Given the description of an element on the screen output the (x, y) to click on. 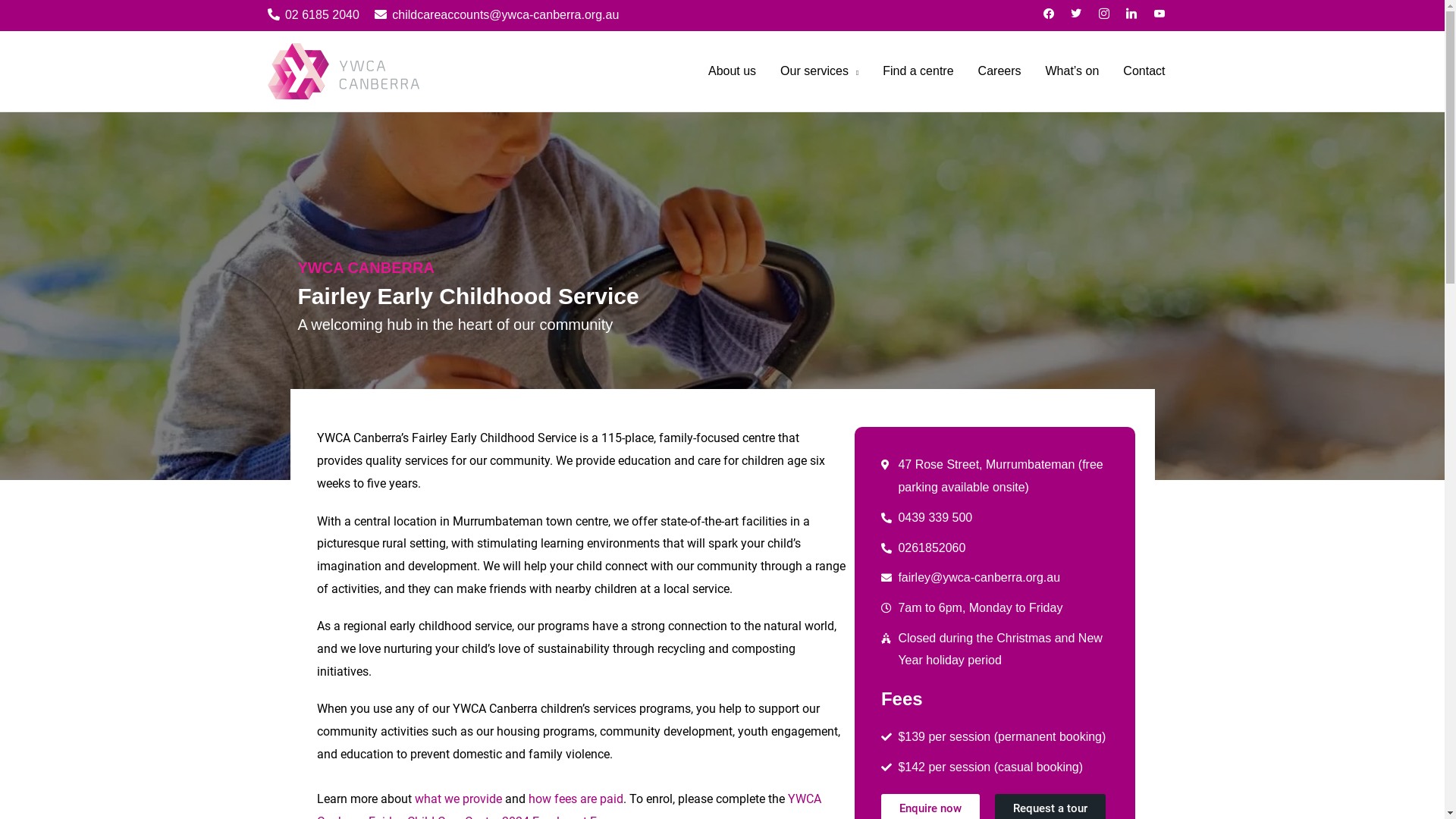
02 6185 2040 Element type: text (312, 14)
fairley@ywca-canberra.org.au Element type: text (995, 577)
0439 339 500 Element type: text (995, 517)
childcareaccounts@ywca-canberra.org.au Element type: text (496, 14)
how fees are paid Element type: text (574, 798)
About us Element type: text (732, 71)
Contact Element type: text (1143, 71)
0261852060 Element type: text (995, 547)
Our services Element type: text (819, 71)
Careers Element type: text (999, 71)
Find a centre Element type: text (917, 71)
what we provide Element type: text (457, 798)
